Given the description of an element on the screen output the (x, y) to click on. 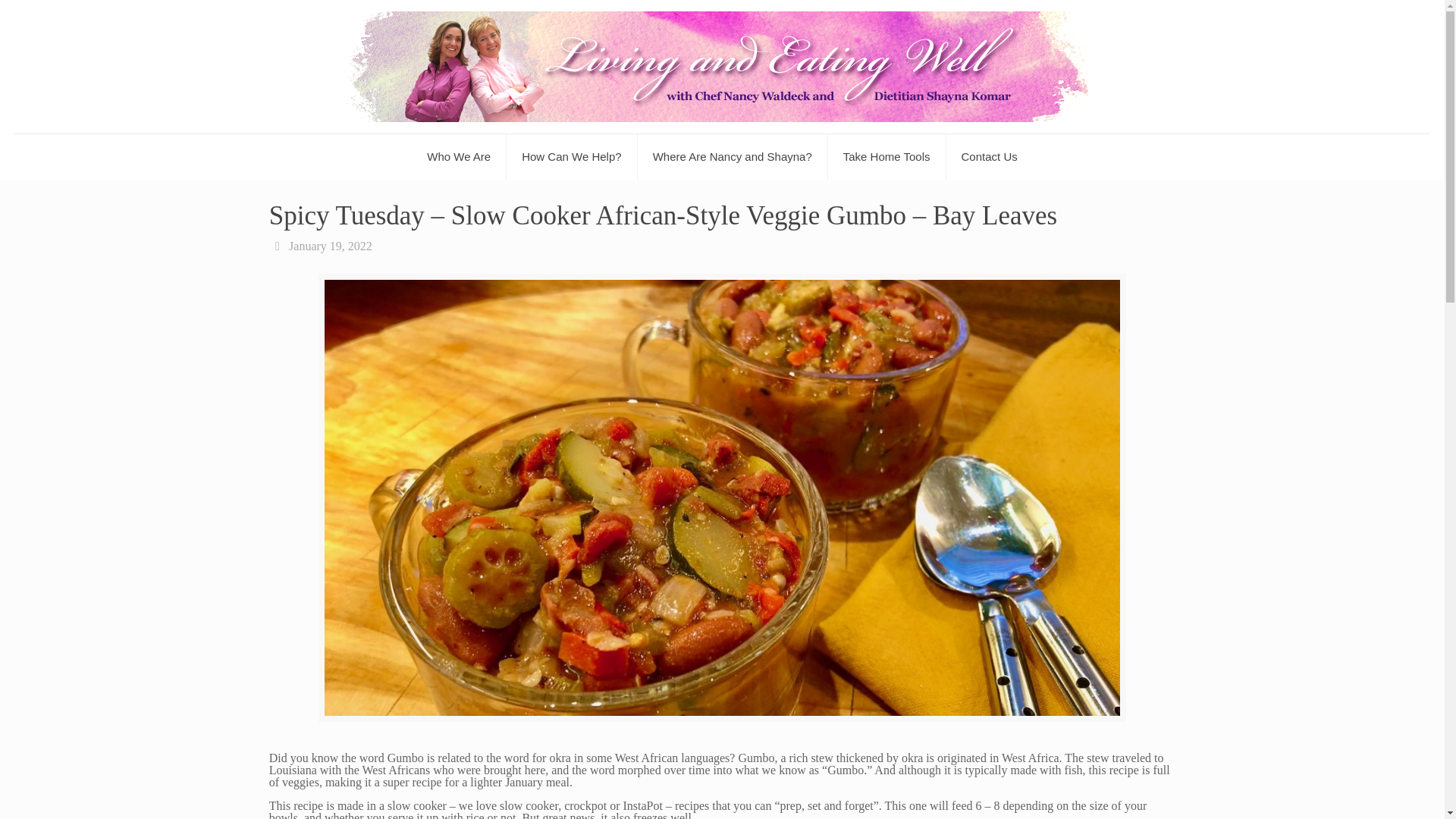
Take Home Tools (887, 156)
Where Are Nancy and Shayna? (732, 156)
How Can We Help? (571, 156)
Who We Are (459, 156)
Living and Eating Well (721, 66)
Contact Us (989, 156)
